Given the description of an element on the screen output the (x, y) to click on. 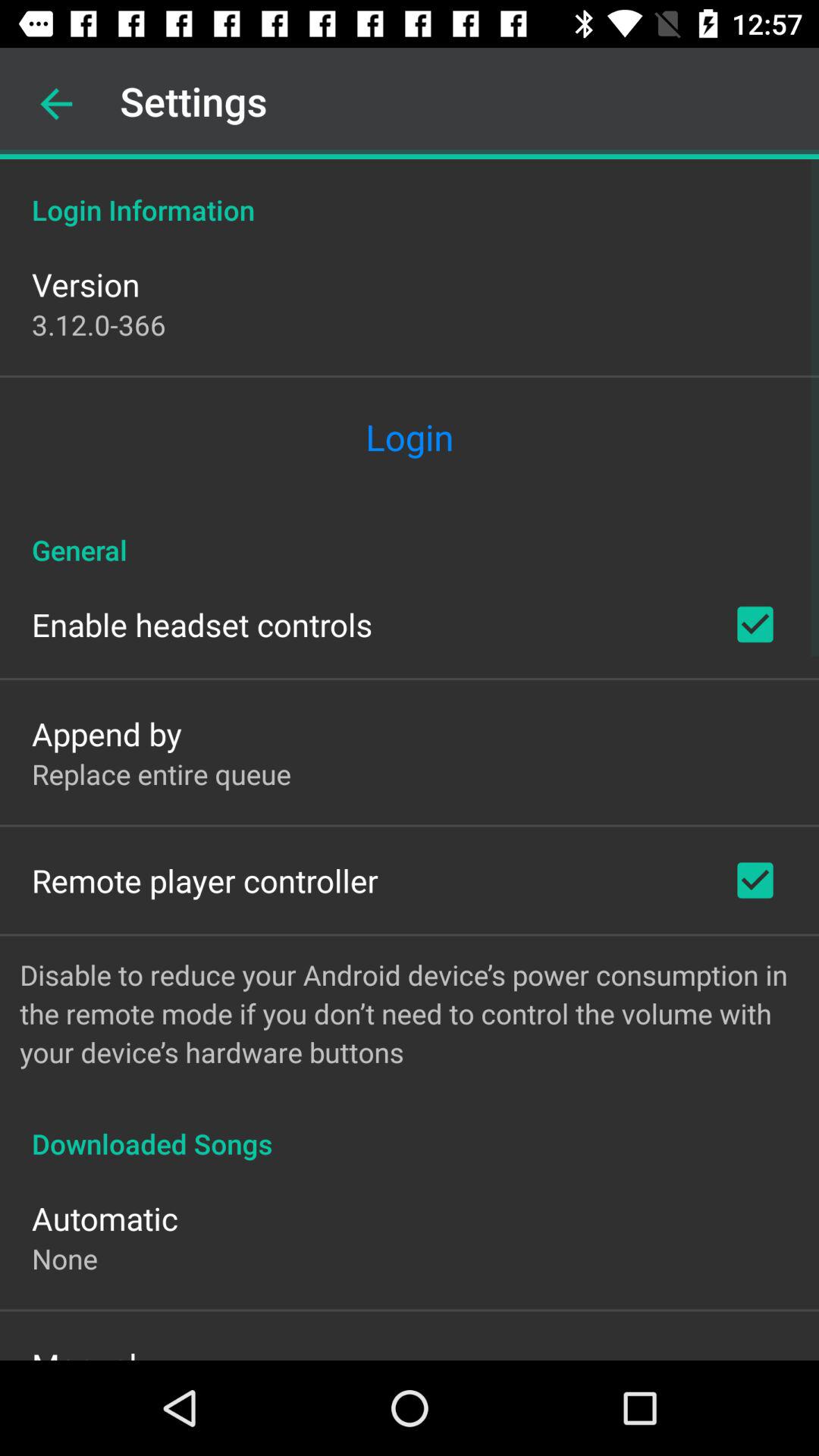
launch the item above the none item (104, 1217)
